Given the description of an element on the screen output the (x, y) to click on. 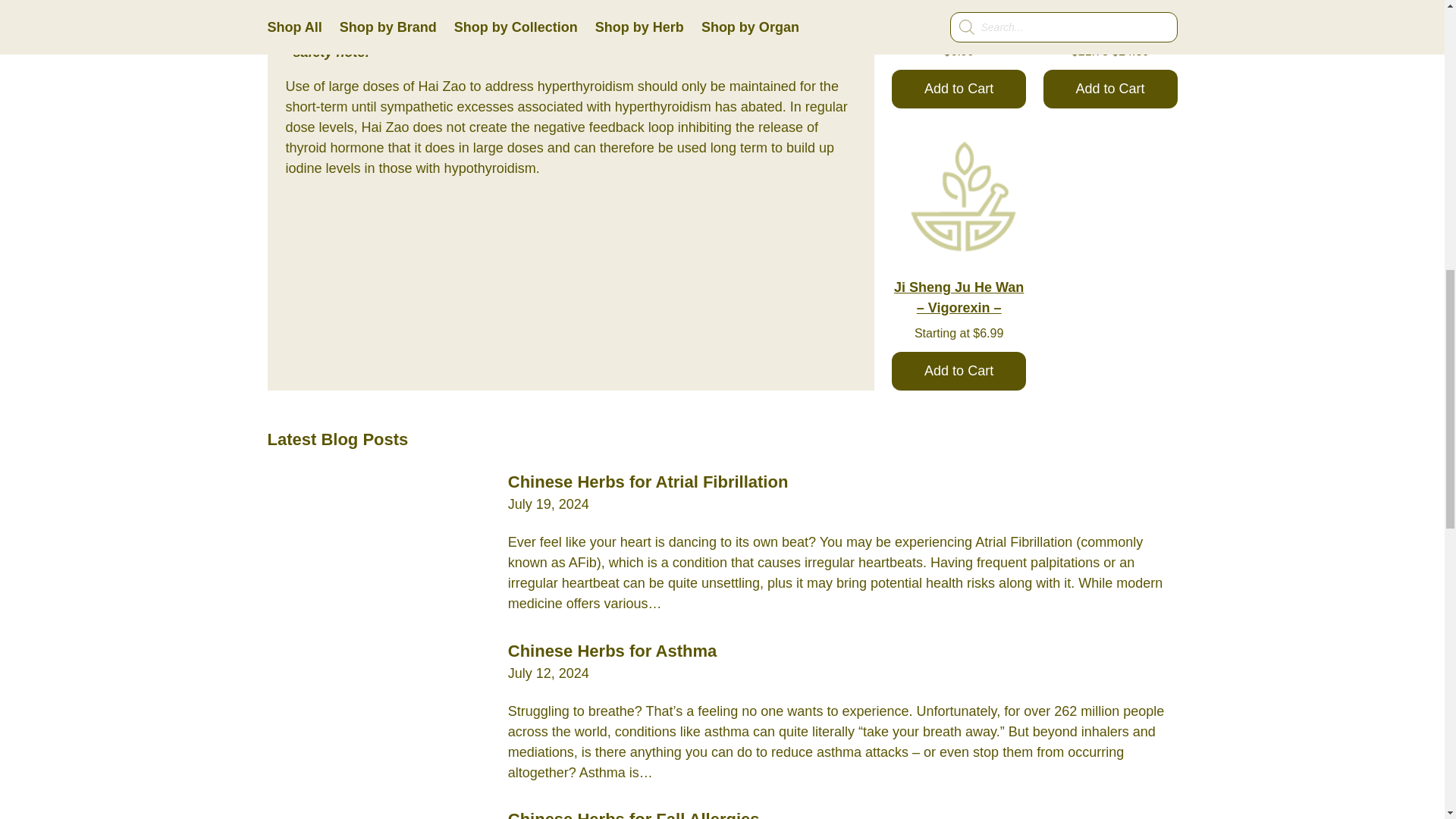
Add to Cart (958, 88)
Add to Cart (958, 371)
Ru Jie Xiao - Women's Breast Maintenance Formula (958, 88)
Add to Cart (1110, 88)
Plum Flower - Nei Xiao Luo Li Teapills (1110, 88)
